Given the description of an element on the screen output the (x, y) to click on. 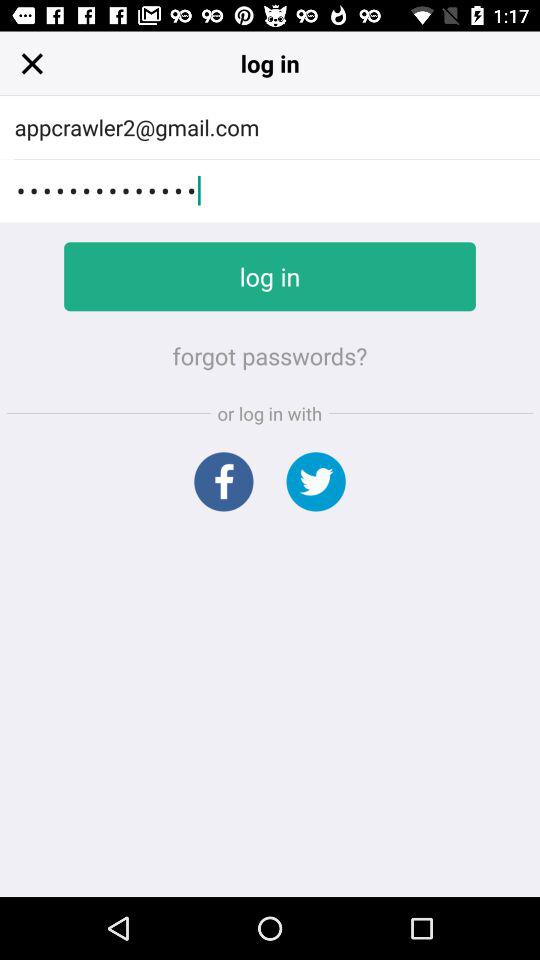
facebook (223, 481)
